Given the description of an element on the screen output the (x, y) to click on. 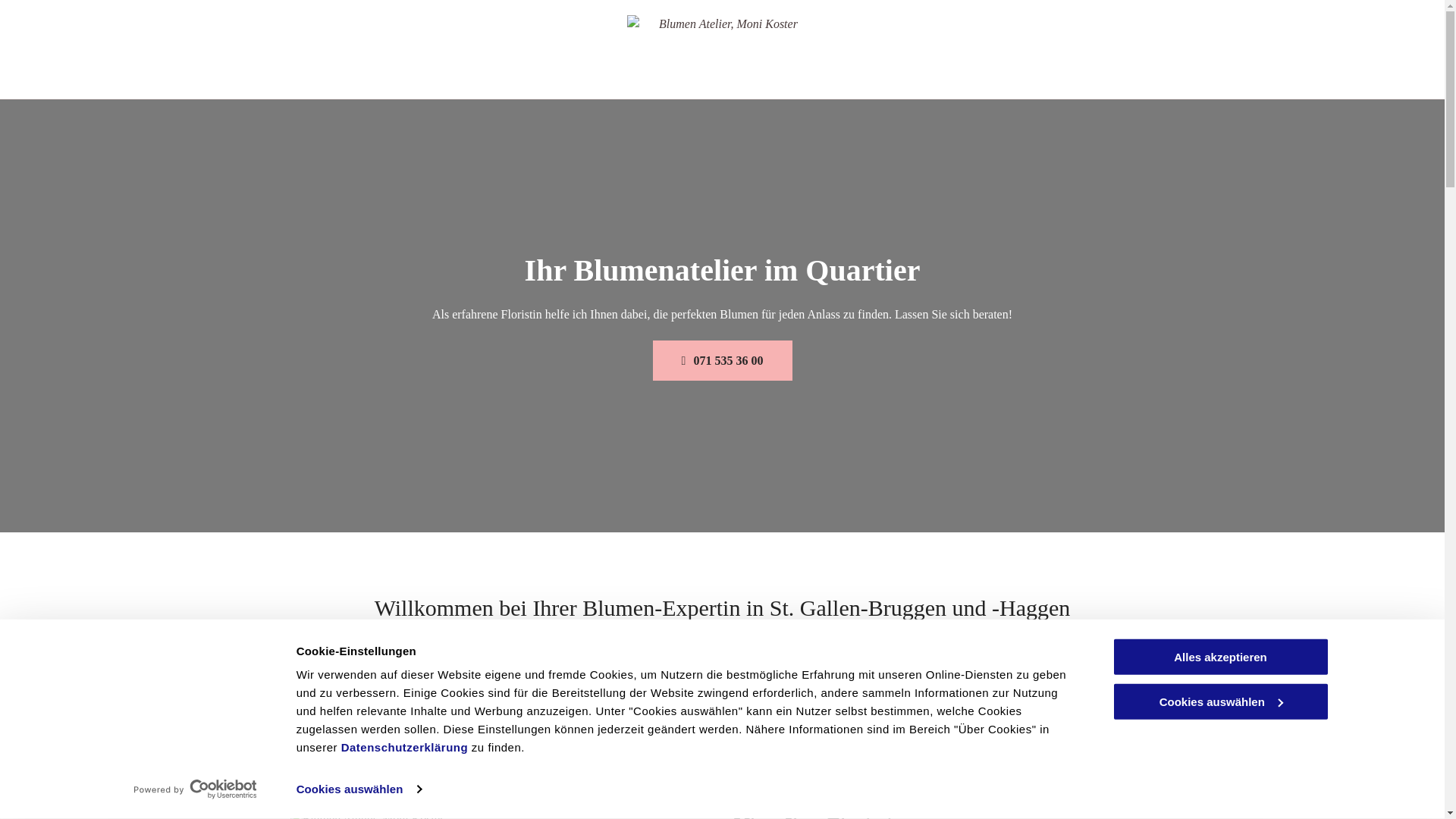
071 535 36 00 Element type: text (721, 360)
Cookies Element type: text (83, 783)
Alles akzeptieren Element type: text (1219, 656)
